Given the description of an element on the screen output the (x, y) to click on. 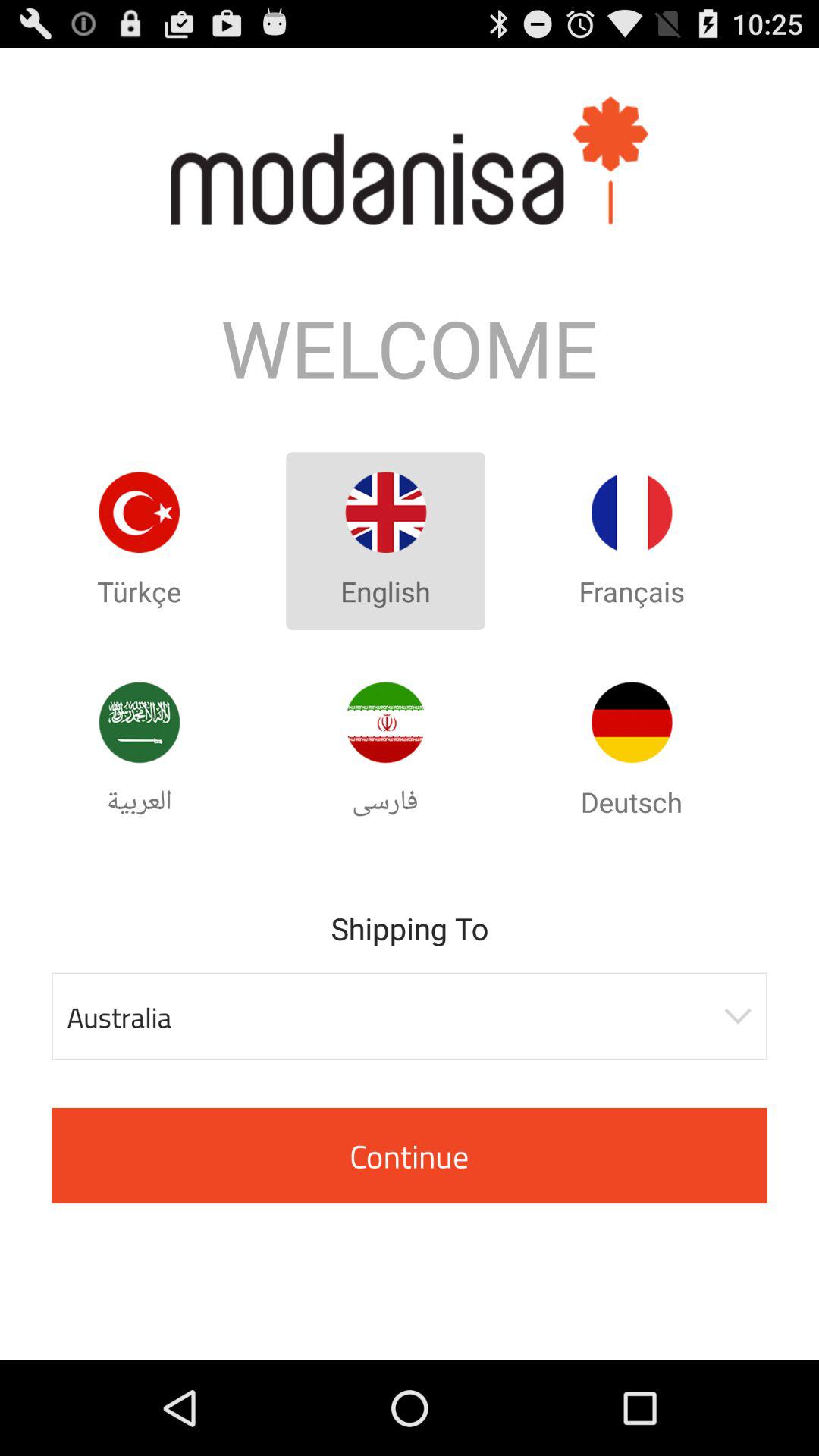
ship to saudi arabia (138, 722)
